Given the description of an element on the screen output the (x, y) to click on. 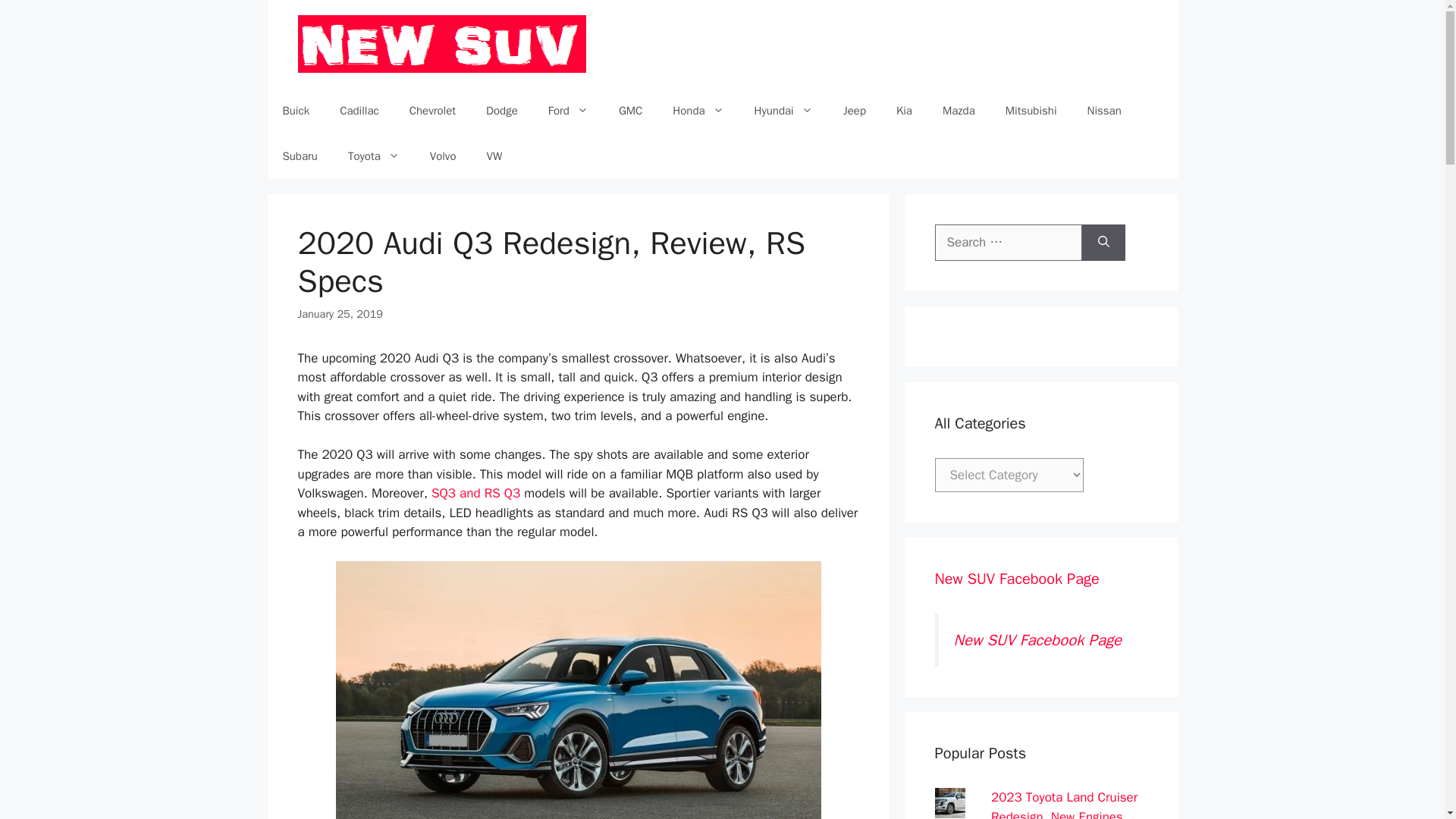
SQ3 and RS Q3 (474, 493)
Subaru (298, 156)
GMC (631, 110)
Mazda (958, 110)
Mitsubishi (1030, 110)
Dodge (501, 110)
Cadillac (359, 110)
Buick (295, 110)
Hyundai (783, 110)
Volvo (442, 156)
Honda (698, 110)
Ford (568, 110)
Toyota (373, 156)
Jeep (854, 110)
Kia (903, 110)
